Given the description of an element on the screen output the (x, y) to click on. 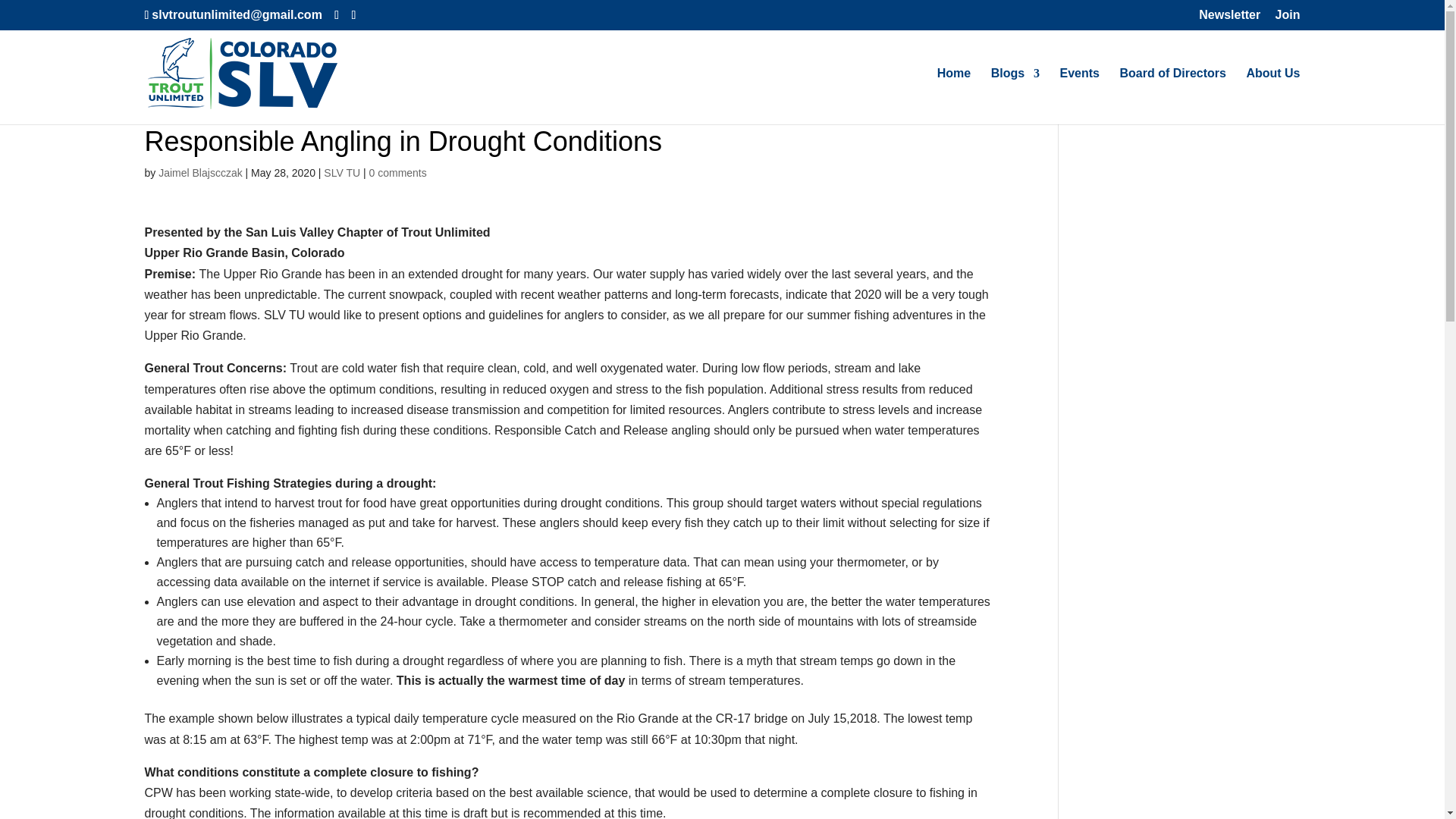
Posts by Jaimel Blajscczak (199, 173)
0 comments (397, 173)
Jaimel Blajscczak (199, 173)
Board of Directors (1172, 95)
About Us (1273, 95)
Newsletter (1229, 19)
Join (1287, 19)
SLV TU (341, 173)
